Given the description of an element on the screen output the (x, y) to click on. 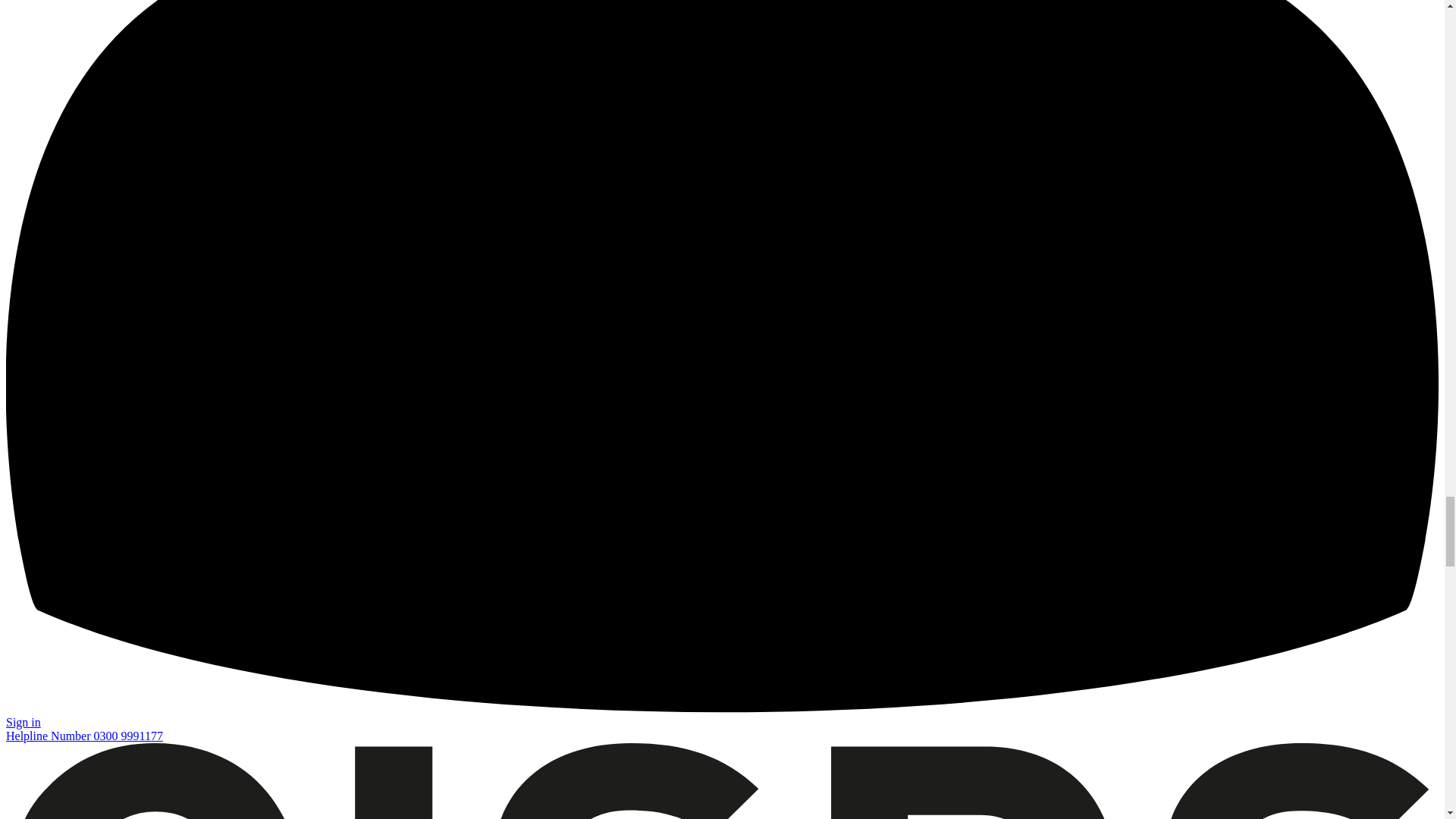
Helpline Number 0300 9991177 (84, 735)
